Given the description of an element on the screen output the (x, y) to click on. 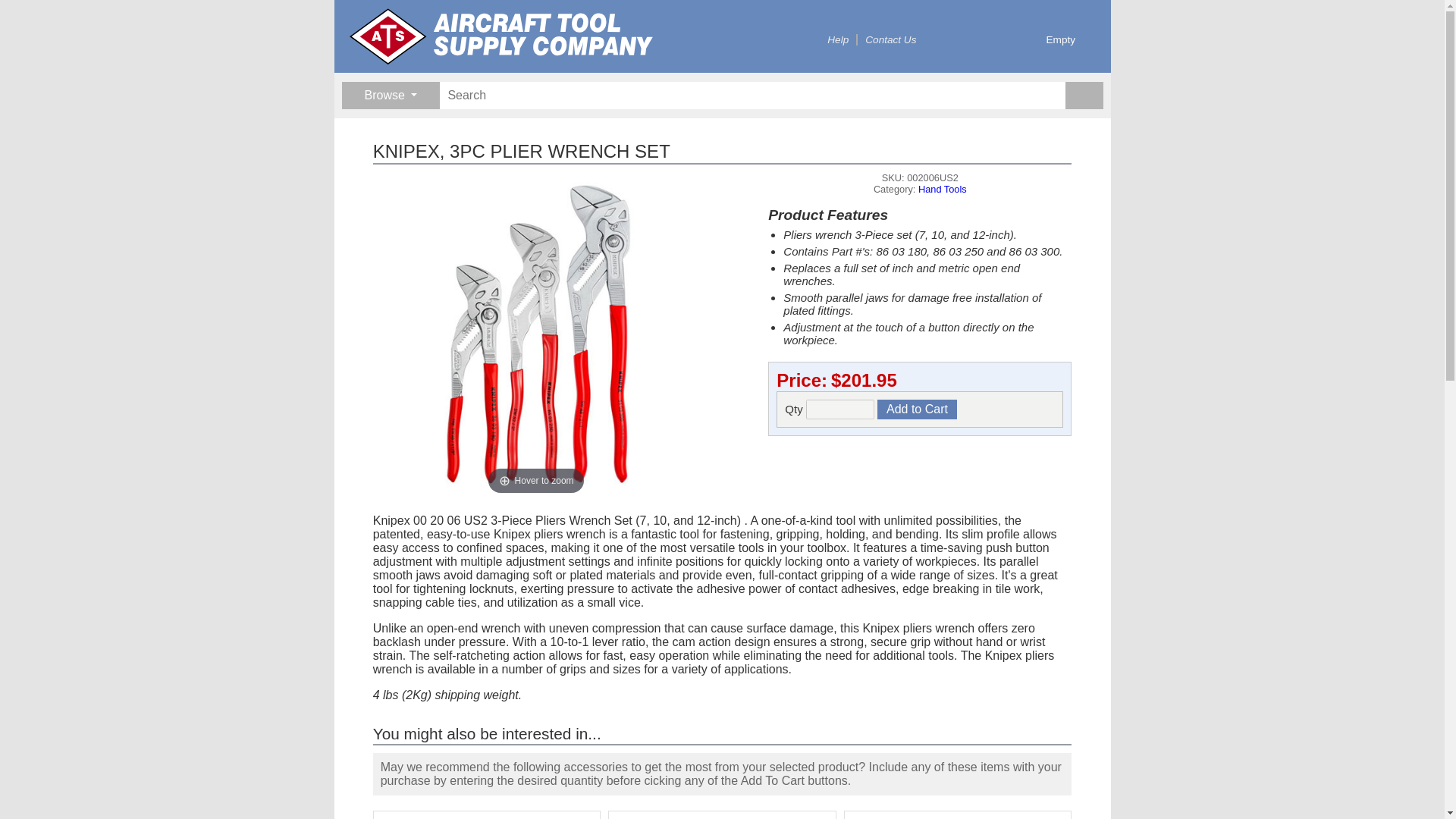
Add to Cart (916, 409)
search button (1083, 94)
Help (837, 39)
Browse (389, 94)
Contact Us (889, 39)
